Given the description of an element on the screen output the (x, y) to click on. 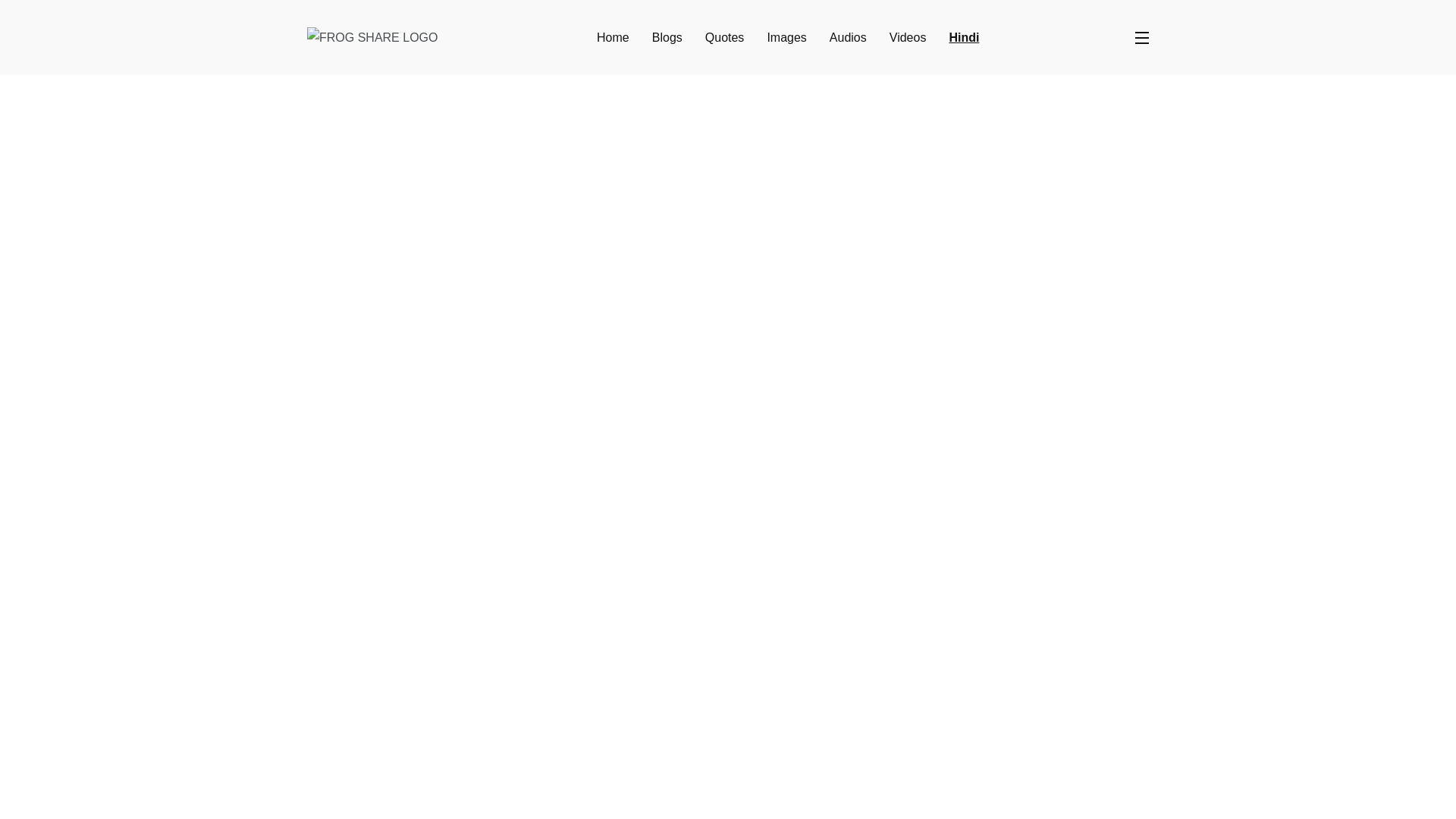
Home (612, 37)
Videos (907, 37)
Quotes (724, 37)
Hindi (963, 37)
Blogs (667, 37)
Audios (847, 37)
Images (786, 37)
